Given the description of an element on the screen output the (x, y) to click on. 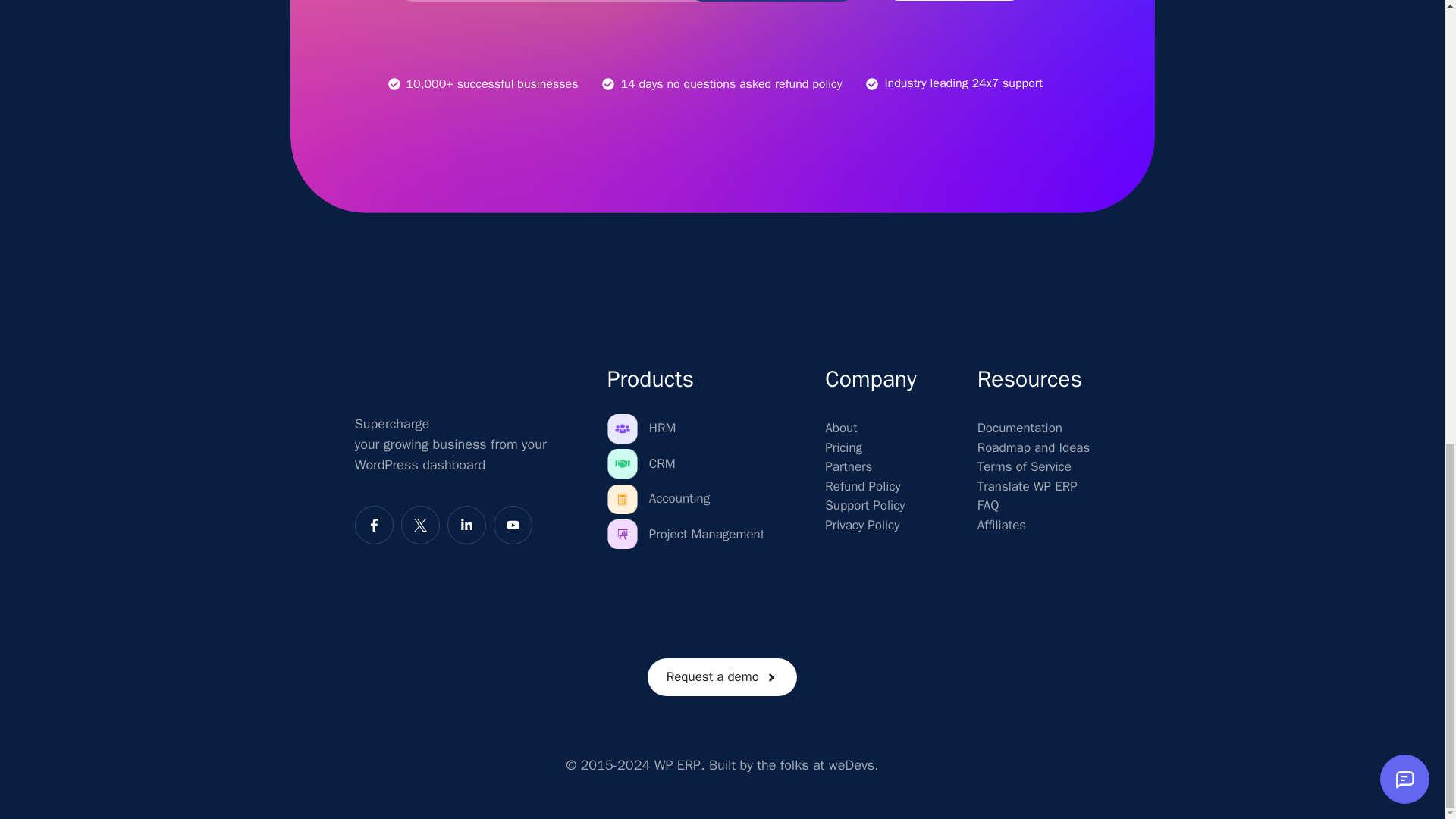
CRM (662, 464)
HRM (663, 428)
logo-white (409, 376)
